Given the description of an element on the screen output the (x, y) to click on. 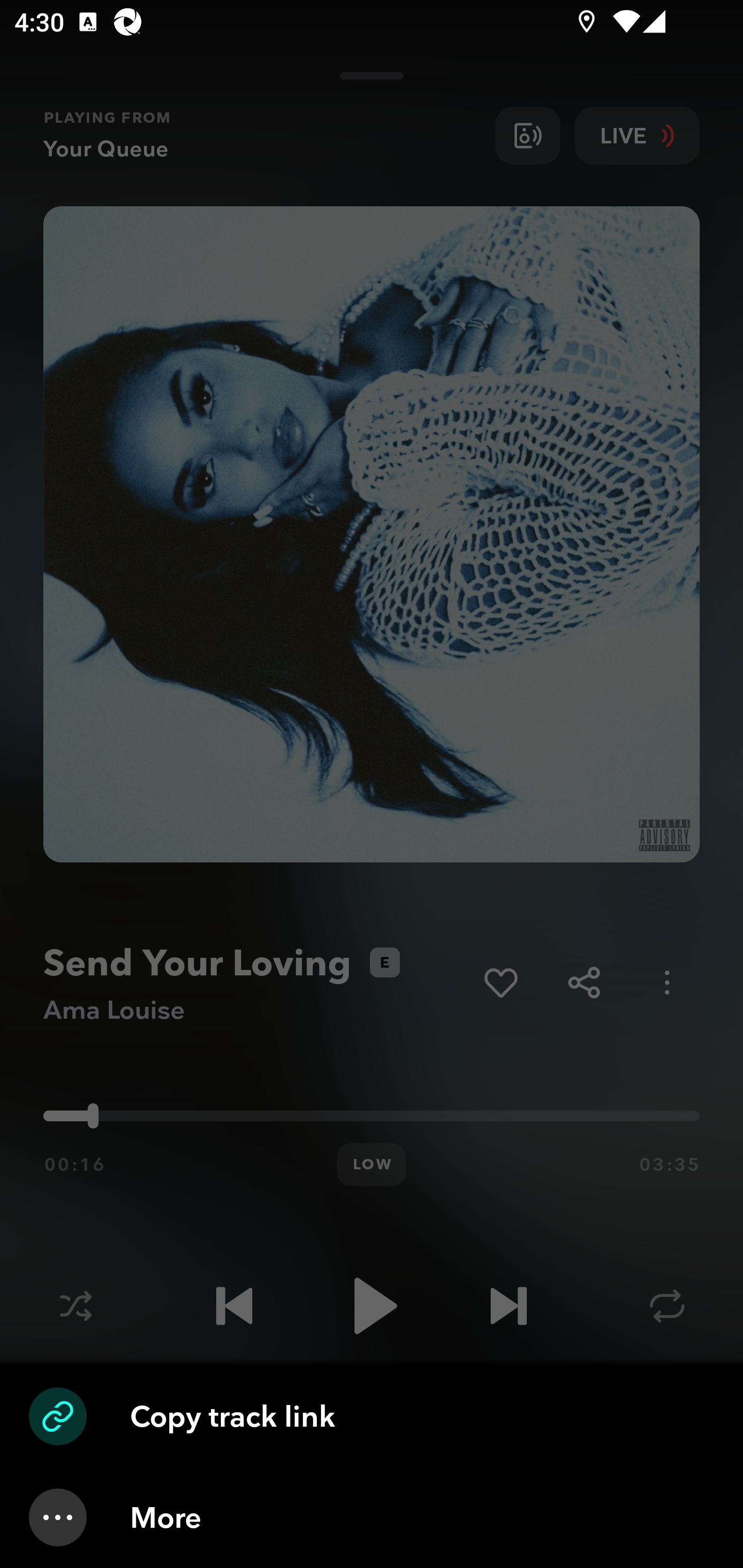
Copy track link (371, 1416)
More (371, 1517)
